Given the description of an element on the screen output the (x, y) to click on. 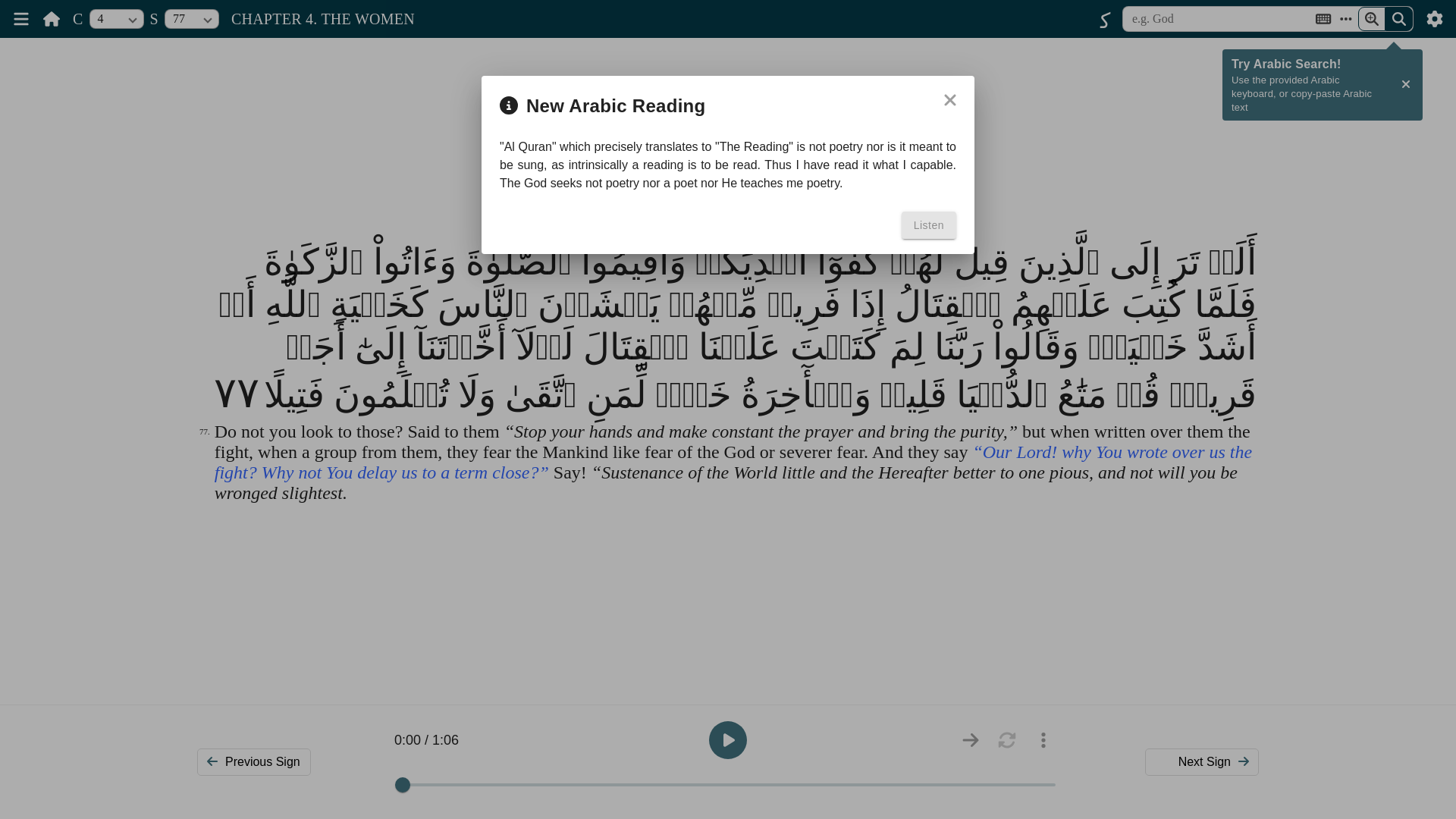
Listen (928, 225)
Next Sign (1201, 761)
Previous Sign (253, 761)
